Given the description of an element on the screen output the (x, y) to click on. 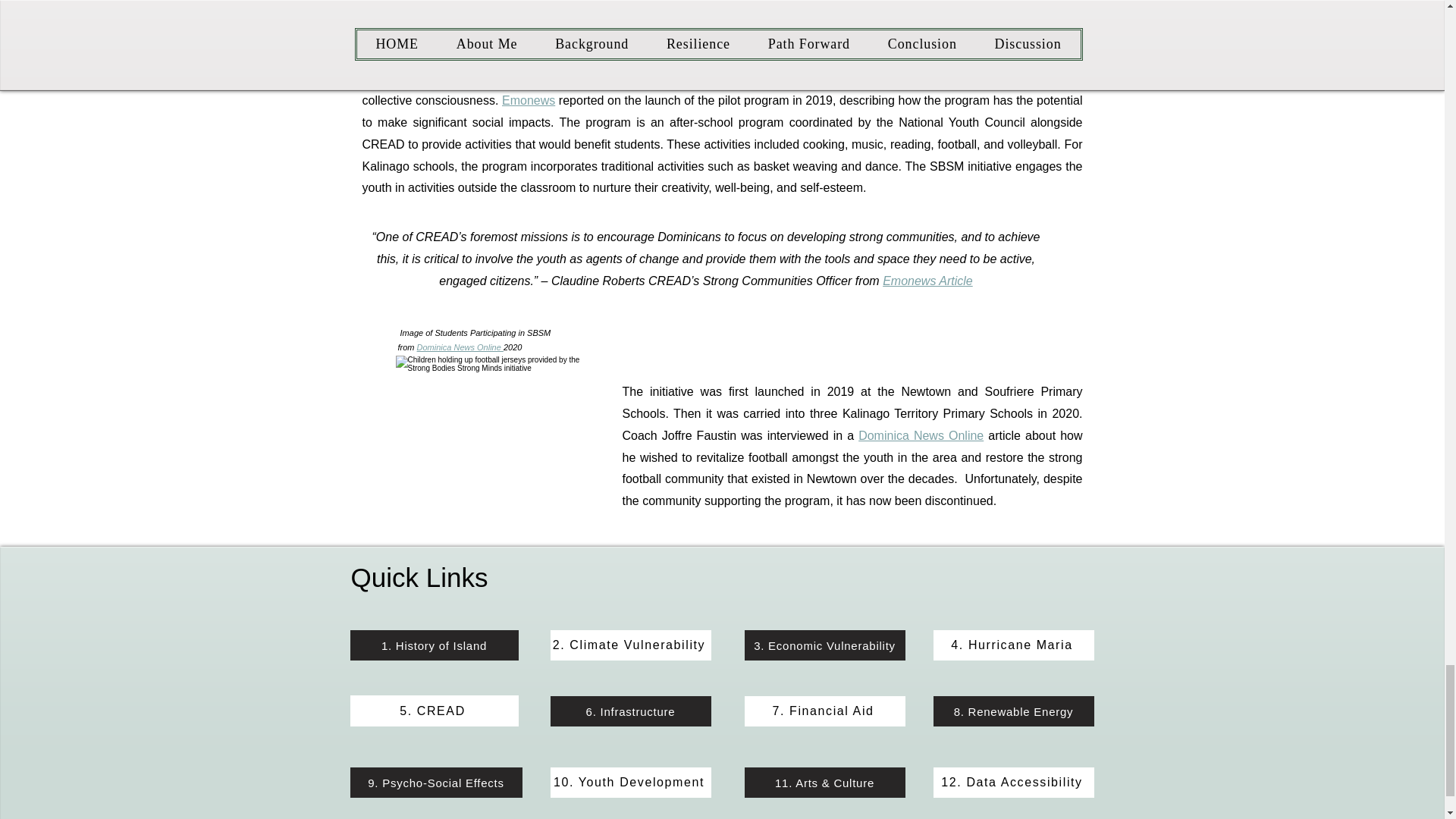
Dominica News Online (921, 435)
4. Hurricane Maria (1013, 644)
Dominica News Online (459, 347)
3. Economic Vulnerability (824, 644)
6. Infrastructure (630, 711)
2020 (512, 347)
2. Climate Vulnerability (630, 644)
12. Data Accessibility (1013, 782)
10. Youth Development (630, 782)
8. Renewable Energy (1013, 711)
1. History of Island (434, 644)
5. CREAD (434, 710)
9. Psycho-Social Effects (436, 782)
Emonews Article (927, 280)
7. Financial Aid (824, 711)
